Given the description of an element on the screen output the (x, y) to click on. 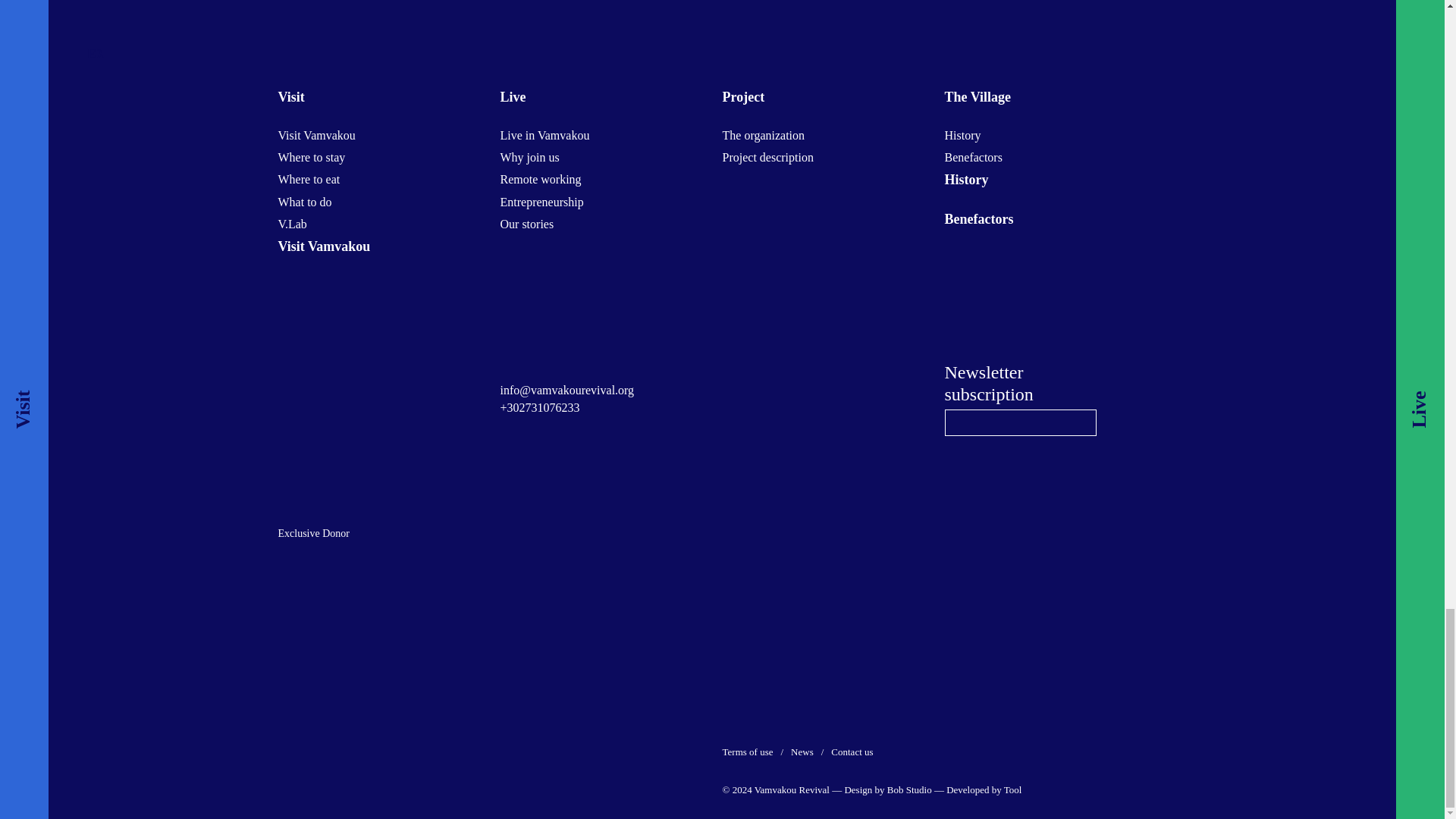
Where to eat (308, 178)
Submit (1077, 423)
Visit (377, 97)
What to do (304, 201)
Visit Vamvakou (316, 134)
Where to stay (311, 156)
